Given the description of an element on the screen output the (x, y) to click on. 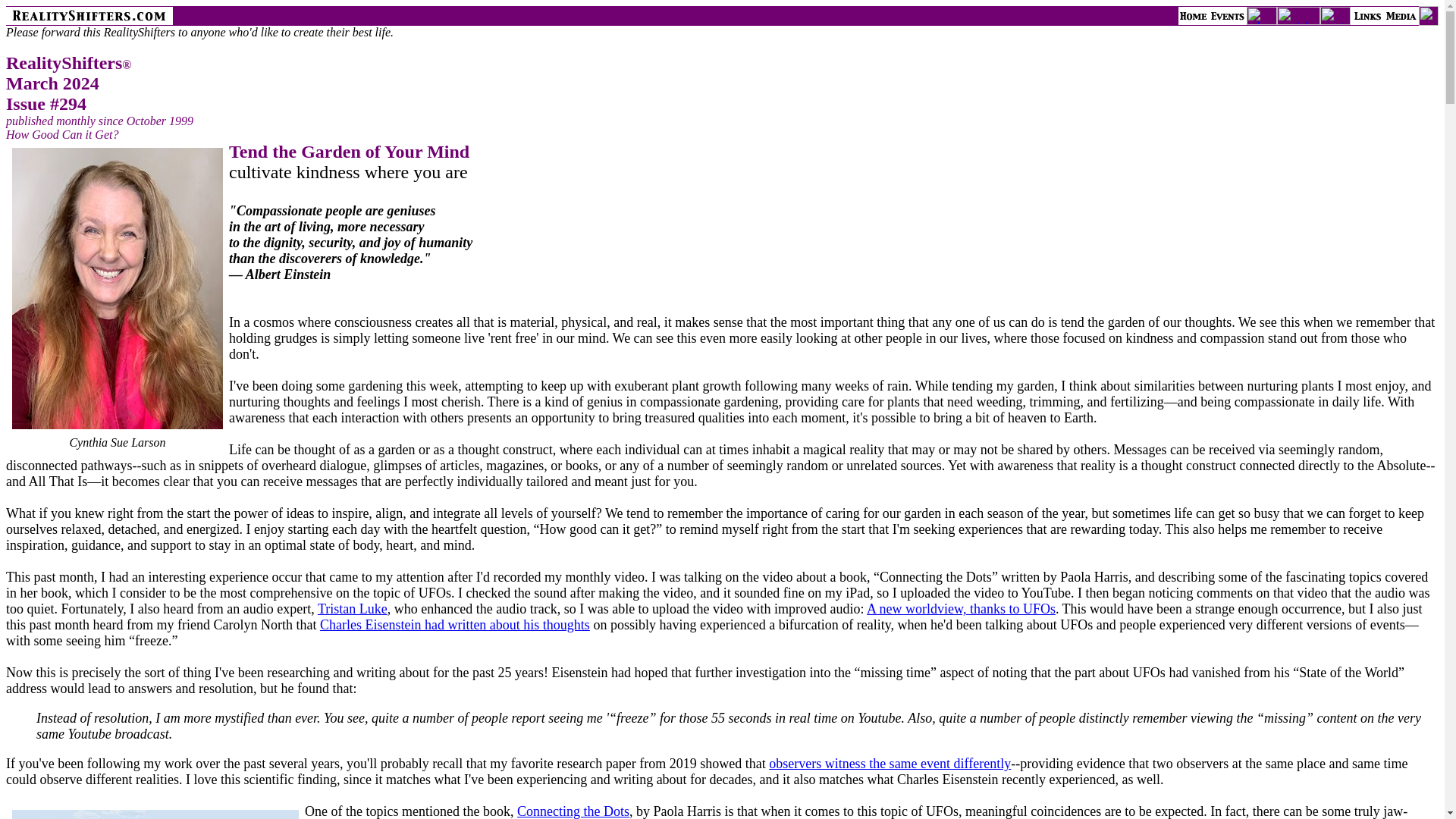
observers witness the same event differently (889, 763)
Connecting the Dots (572, 811)
A new worldview, thanks to UFOs (960, 608)
Charles Eisenstein had written about his thoughts (454, 624)
Tristan Luke (352, 608)
